Given the description of an element on the screen output the (x, y) to click on. 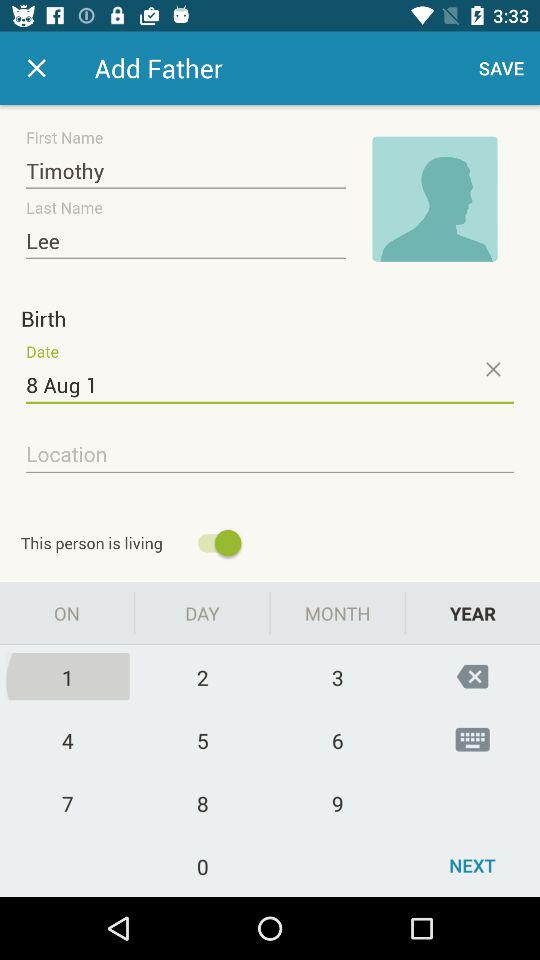
cancel button (36, 68)
